Given the description of an element on the screen output the (x, y) to click on. 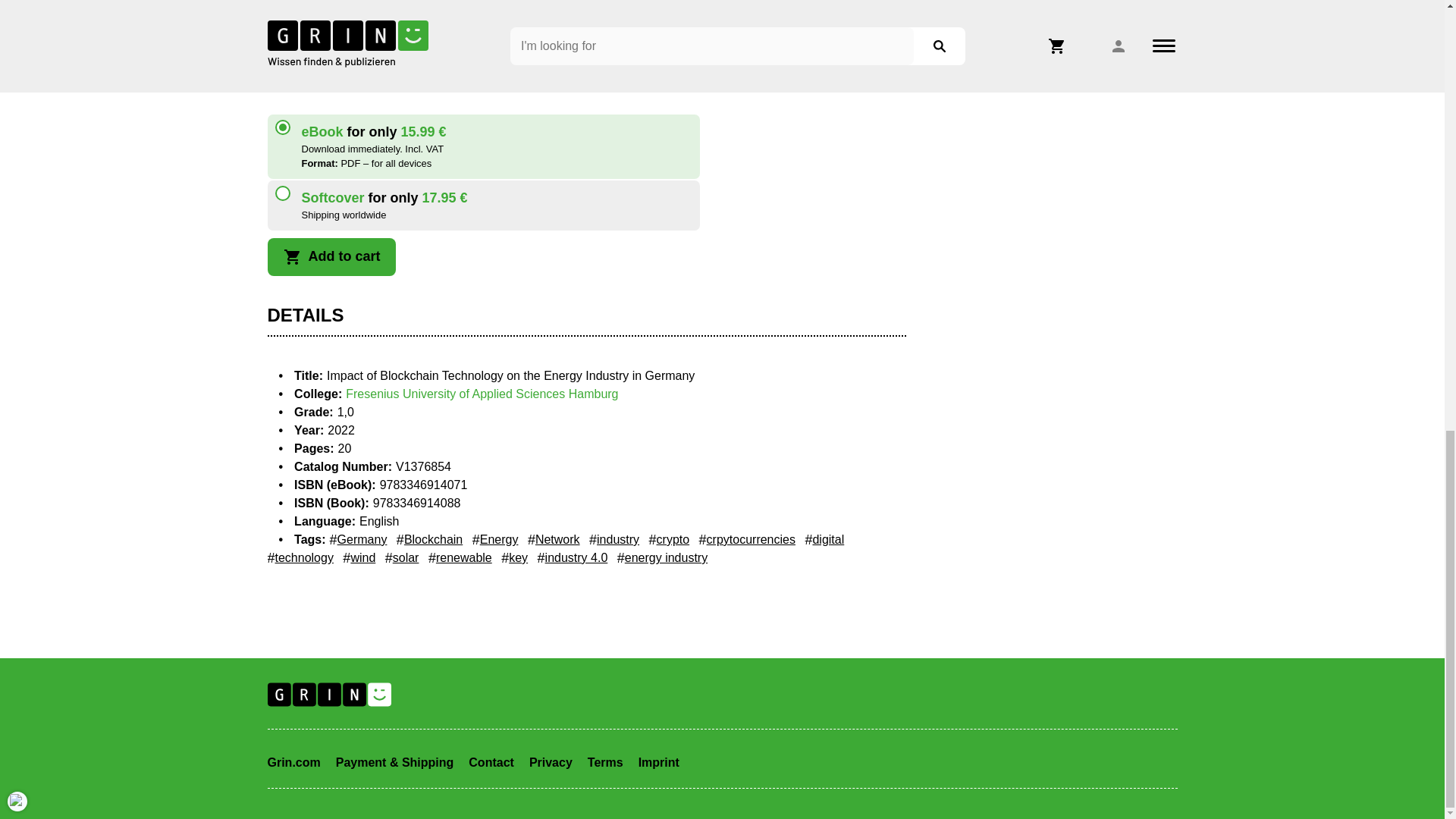
key (513, 557)
Blockchain (429, 539)
digital (824, 539)
energy industry (662, 557)
technology (299, 557)
Energy (494, 539)
wind (358, 557)
Add to cart (330, 257)
industry 4.0 (572, 557)
Germany (358, 539)
